Given the description of an element on the screen output the (x, y) to click on. 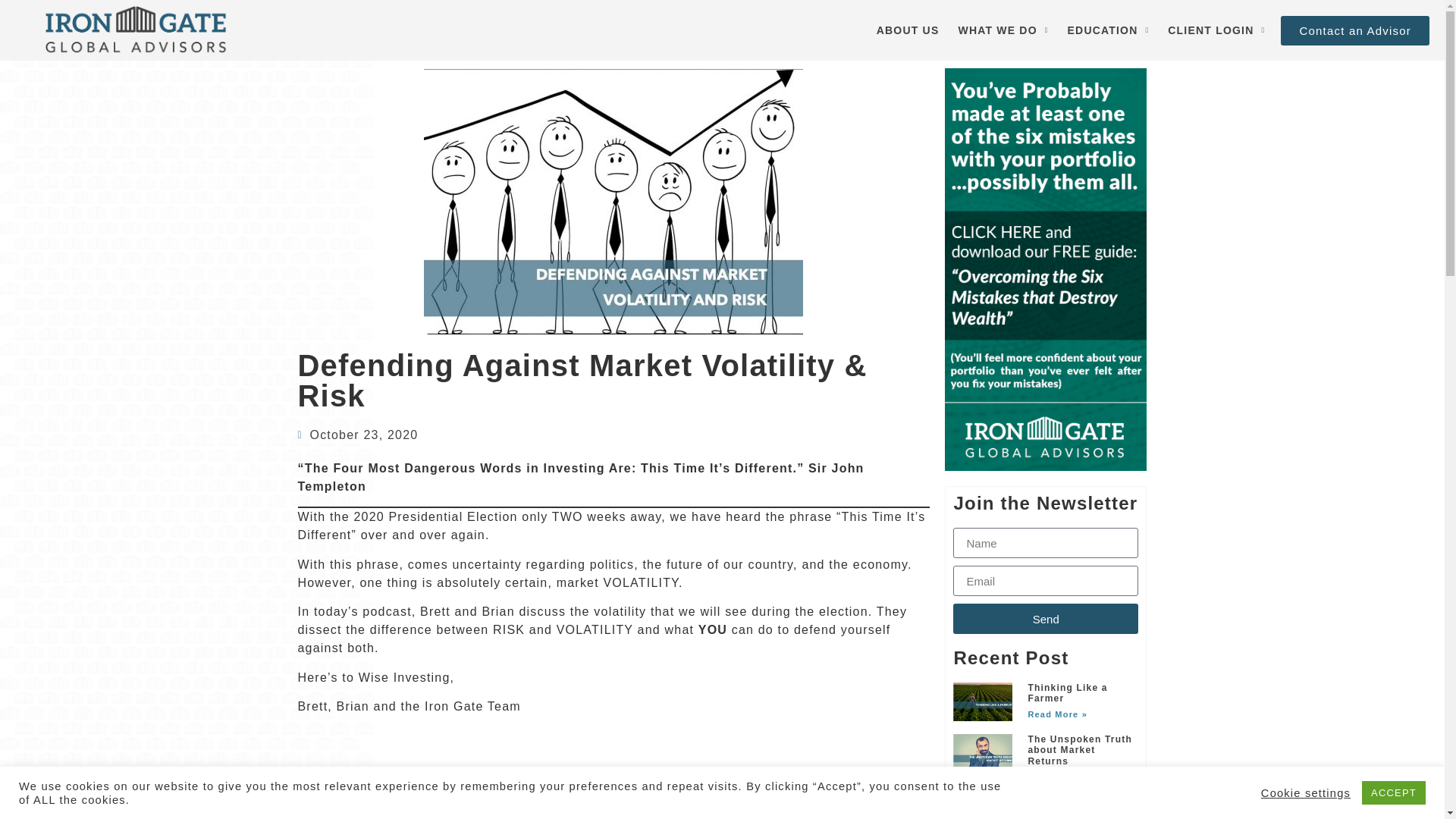
WHAT WE DO (1002, 30)
CLIENT LOGIN (1215, 30)
ABOUT US (907, 30)
EDUCATION (1108, 30)
Contact an Advisor (1355, 30)
